Given the description of an element on the screen output the (x, y) to click on. 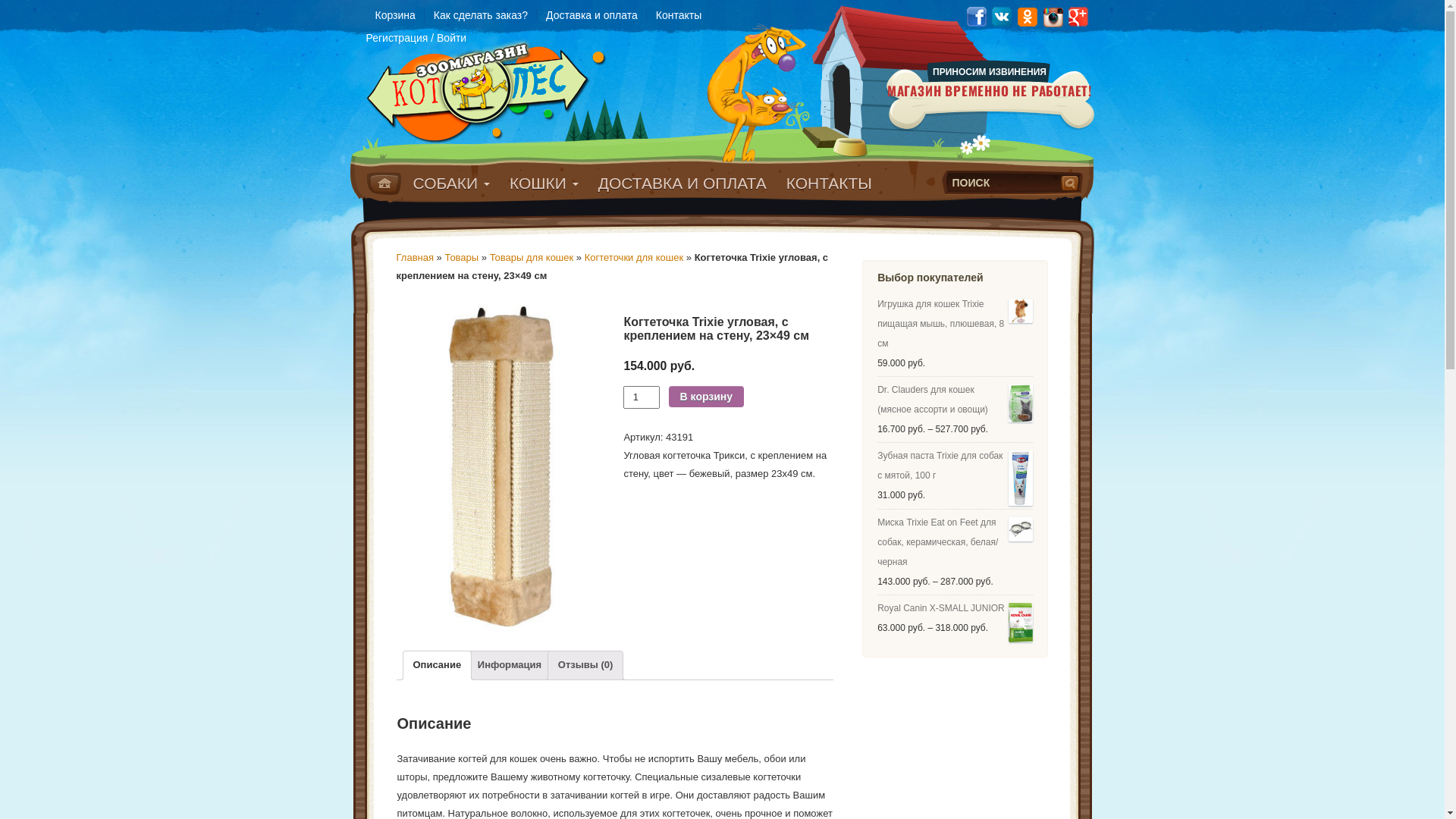
Home Element type: text (384, 183)
Facebook Element type: text (975, 15)
Odnoklassniki Element type: text (1027, 15)
Instagram Element type: text (1052, 15)
Google Plus Element type: text (1078, 15)
Vkontakte Element type: text (1001, 15)
